Given the description of an element on the screen output the (x, y) to click on. 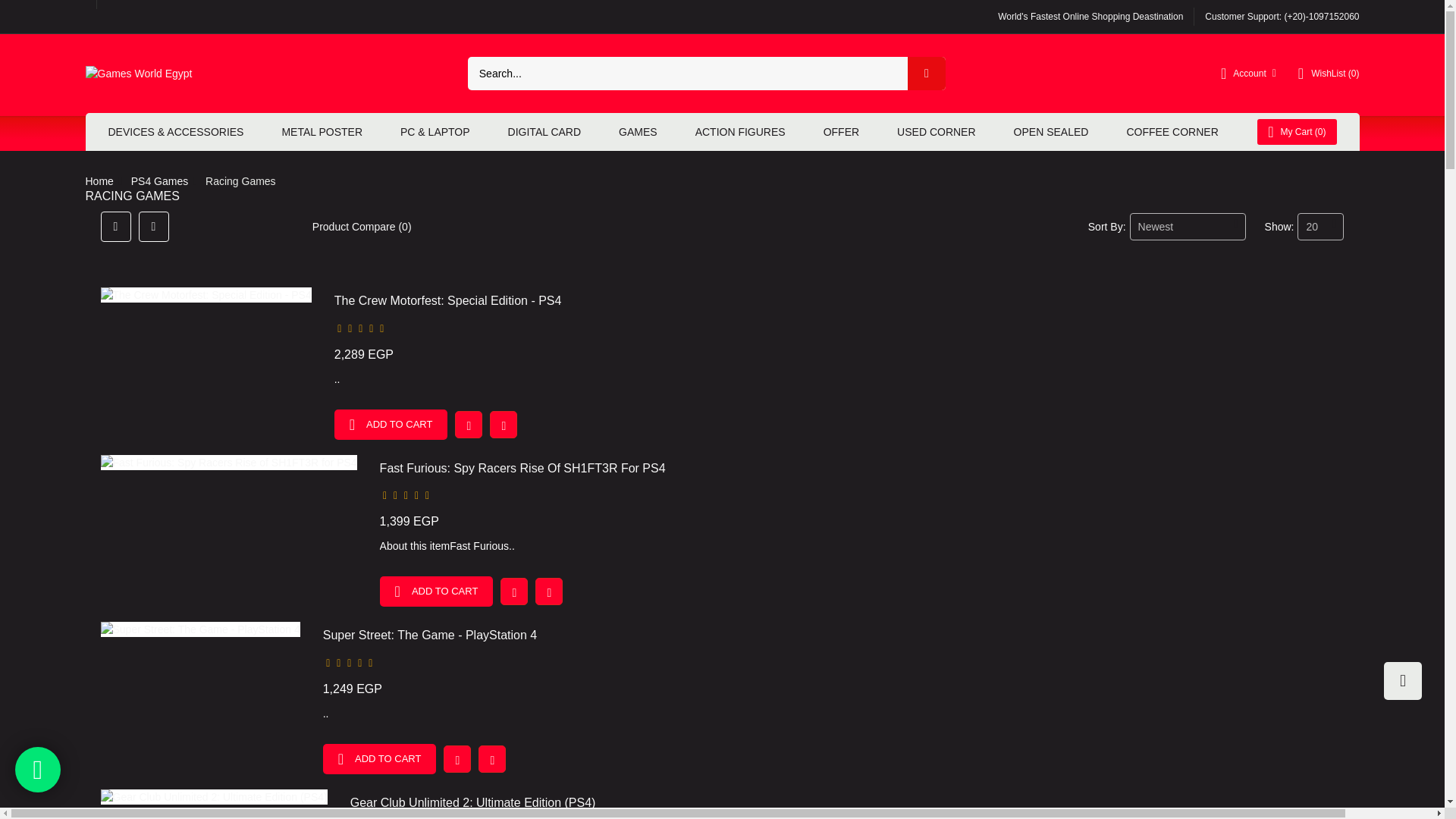
Grid (115, 226)
Add To Compare (502, 424)
Add To WishList (467, 424)
Games World Egypt (138, 73)
List (153, 226)
Account (1248, 73)
Fast Furious: Spy Racers Rise of SH1FT3R for PS4 (228, 462)
Add to Cart (391, 424)
Account (1248, 73)
The Crew Motorfest: Special Edition - PS4 (205, 294)
